Given the description of an element on the screen output the (x, y) to click on. 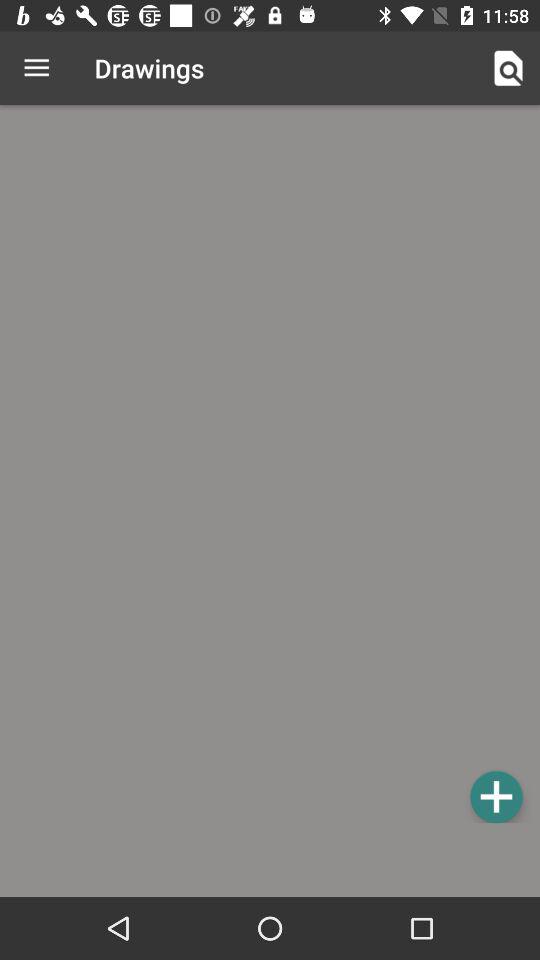
turn off the item at the center (269, 467)
